Given the description of an element on the screen output the (x, y) to click on. 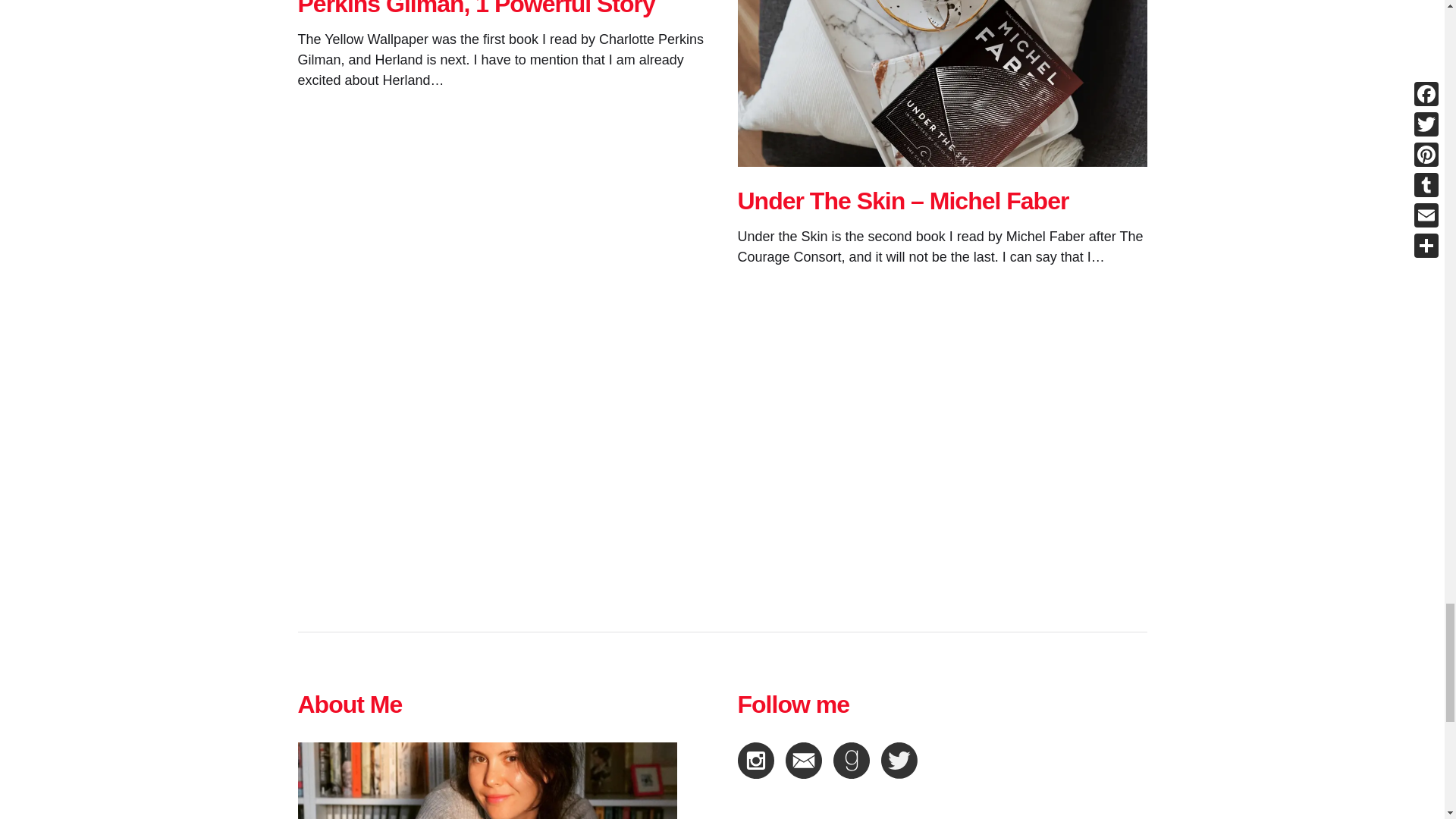
Follow me on Instagram (754, 760)
Follow me on Goodreads (850, 760)
Send me an Email (804, 760)
Follow me on Twitter (898, 760)
